Given the description of an element on the screen output the (x, y) to click on. 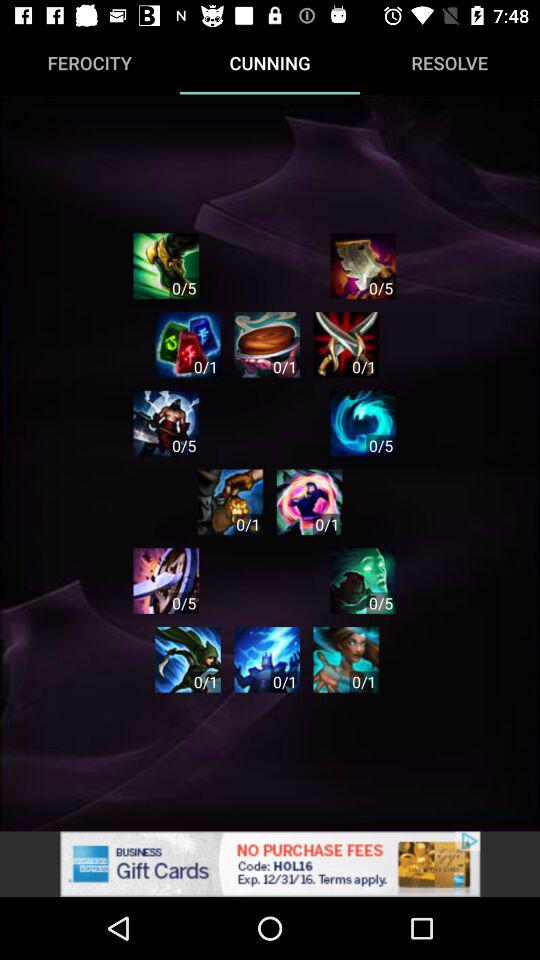
add point to a skill (166, 580)
